Given the description of an element on the screen output the (x, y) to click on. 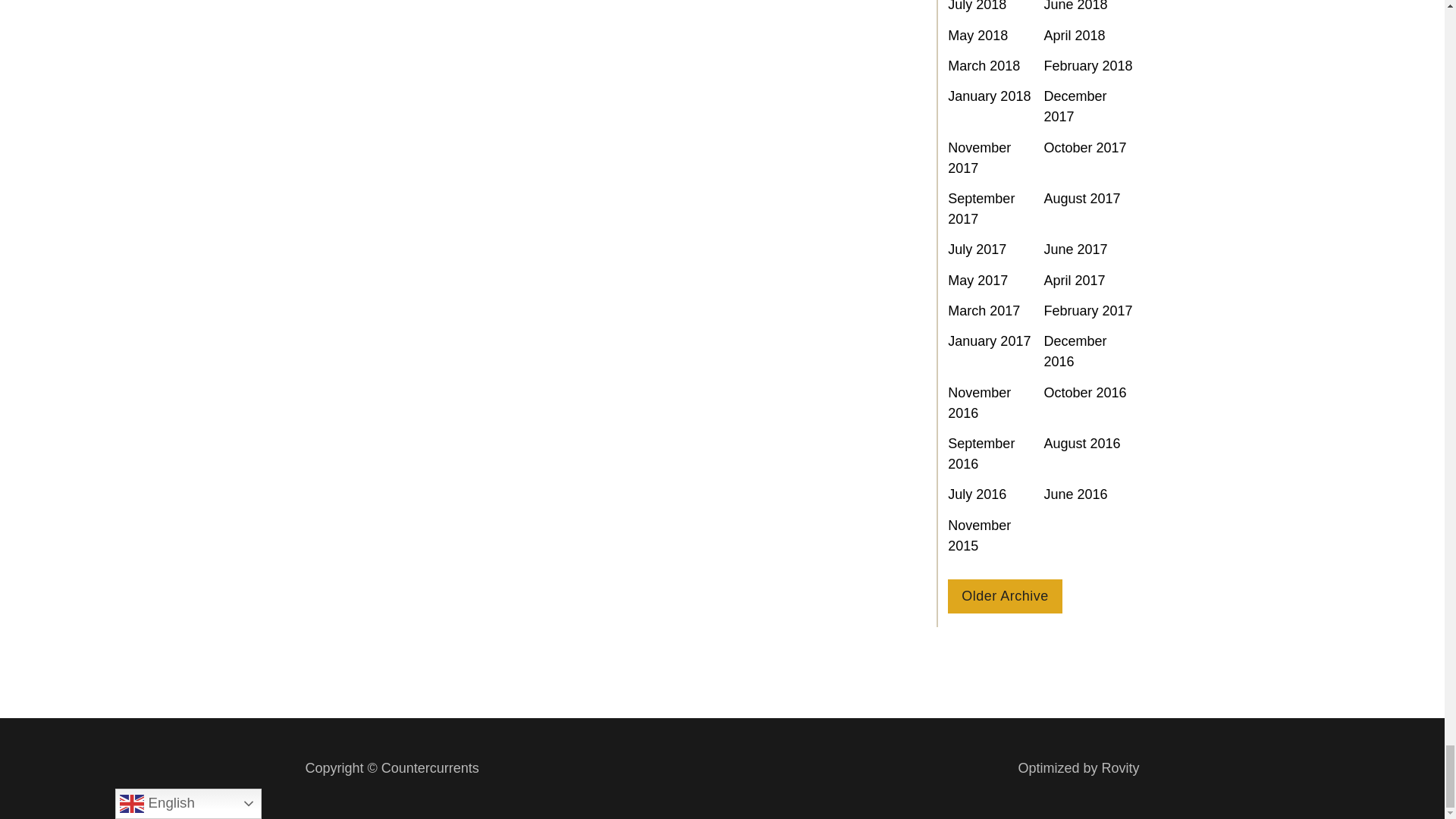
Rovity (1077, 768)
